Given the description of an element on the screen output the (x, y) to click on. 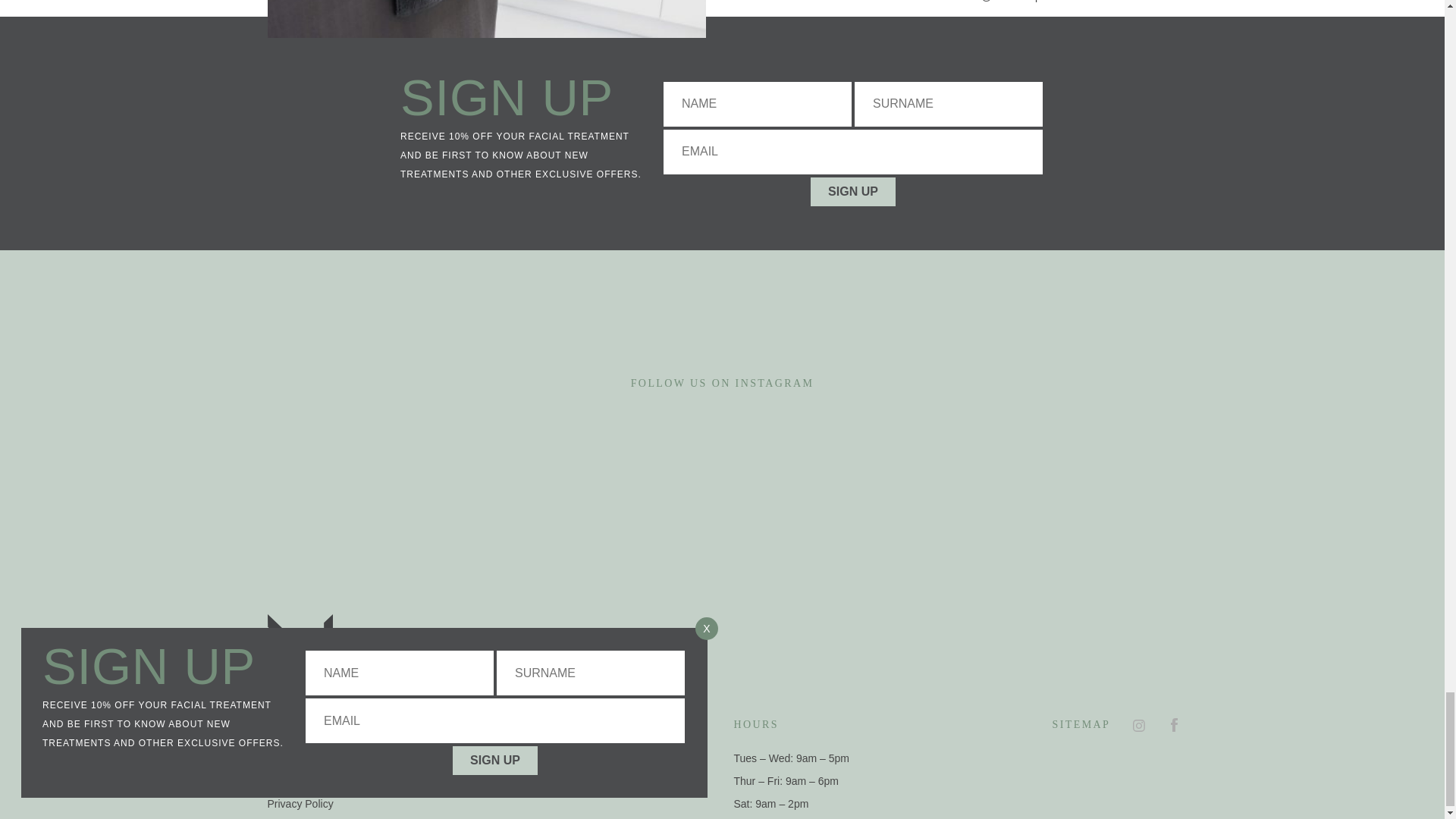
SIGN UP (852, 191)
